Given the description of an element on the screen output the (x, y) to click on. 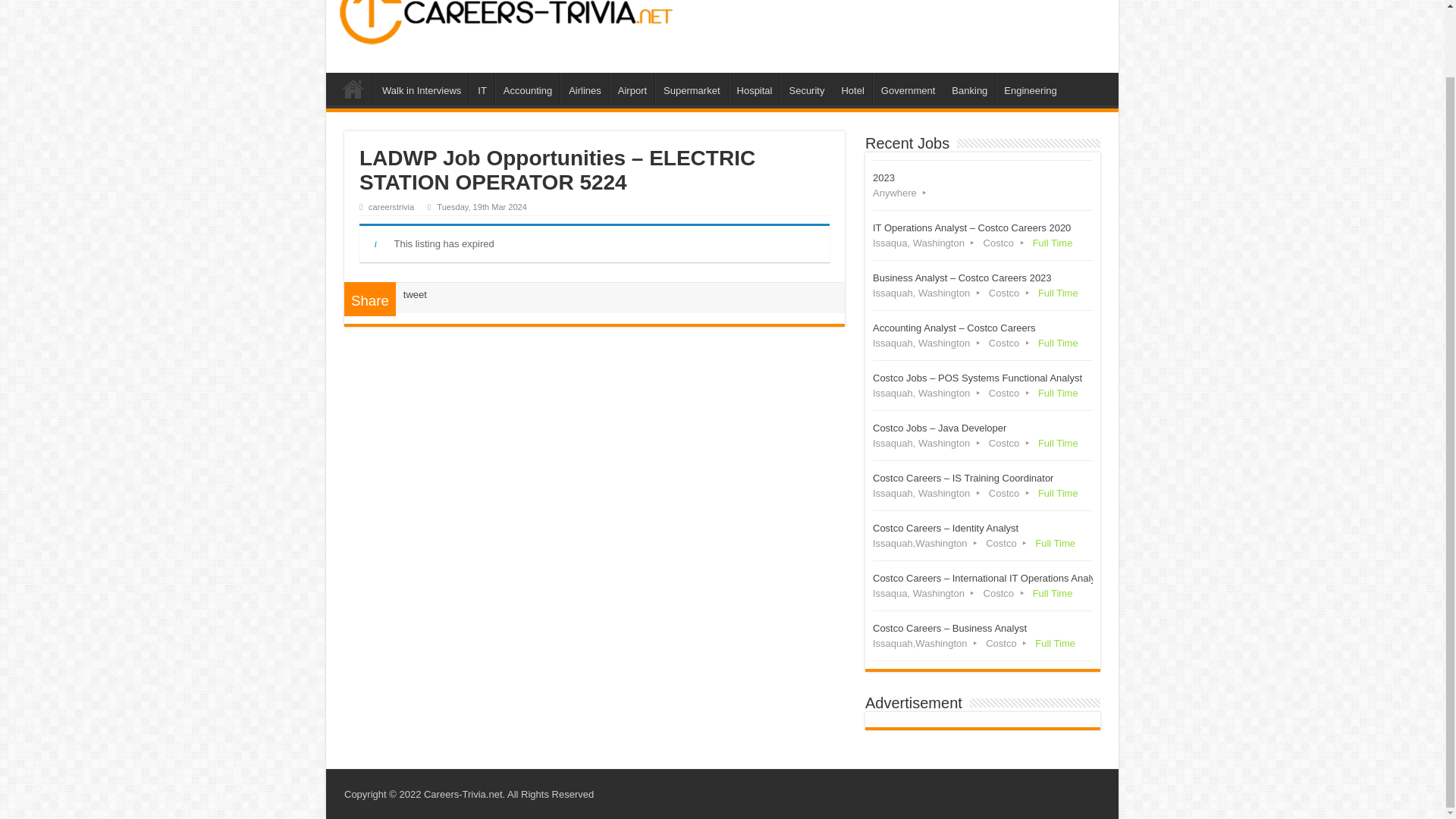
Airlines (584, 88)
Walk in Interviews (421, 88)
Hotel (851, 88)
Security (805, 88)
Banking (968, 88)
Supermarket (690, 88)
careerstrivia (390, 206)
Hospital (754, 88)
Engineering (1029, 88)
Government (907, 88)
Accounting (527, 88)
Airport (631, 88)
Home (352, 88)
tweet (414, 294)
